Given the description of an element on the screen output the (x, y) to click on. 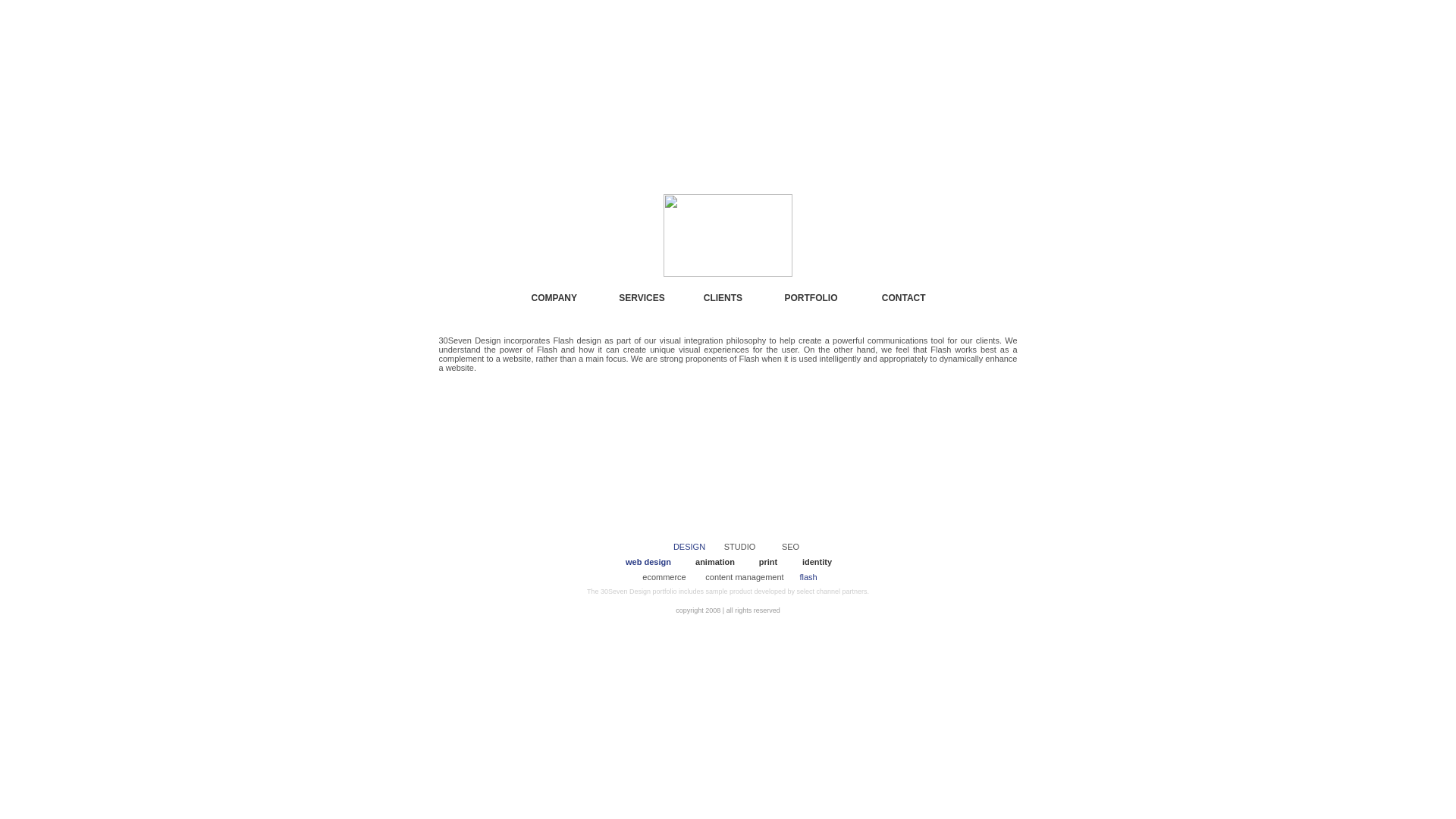
PORTFOLIO Element type: text (810, 297)
SEO Element type: text (790, 546)
CONTACT Element type: text (903, 297)
DESIGN Element type: text (689, 546)
SERVICES Element type: text (641, 297)
animation Element type: text (714, 561)
CLIENTS Element type: text (722, 297)
ecommerce Element type: text (663, 576)
flash Element type: text (807, 576)
print Element type: text (768, 561)
identity Element type: text (816, 561)
COMPANY Element type: text (554, 297)
content management Element type: text (744, 576)
STUDIO Element type: text (740, 546)
web design Element type: text (648, 561)
